Given the description of an element on the screen output the (x, y) to click on. 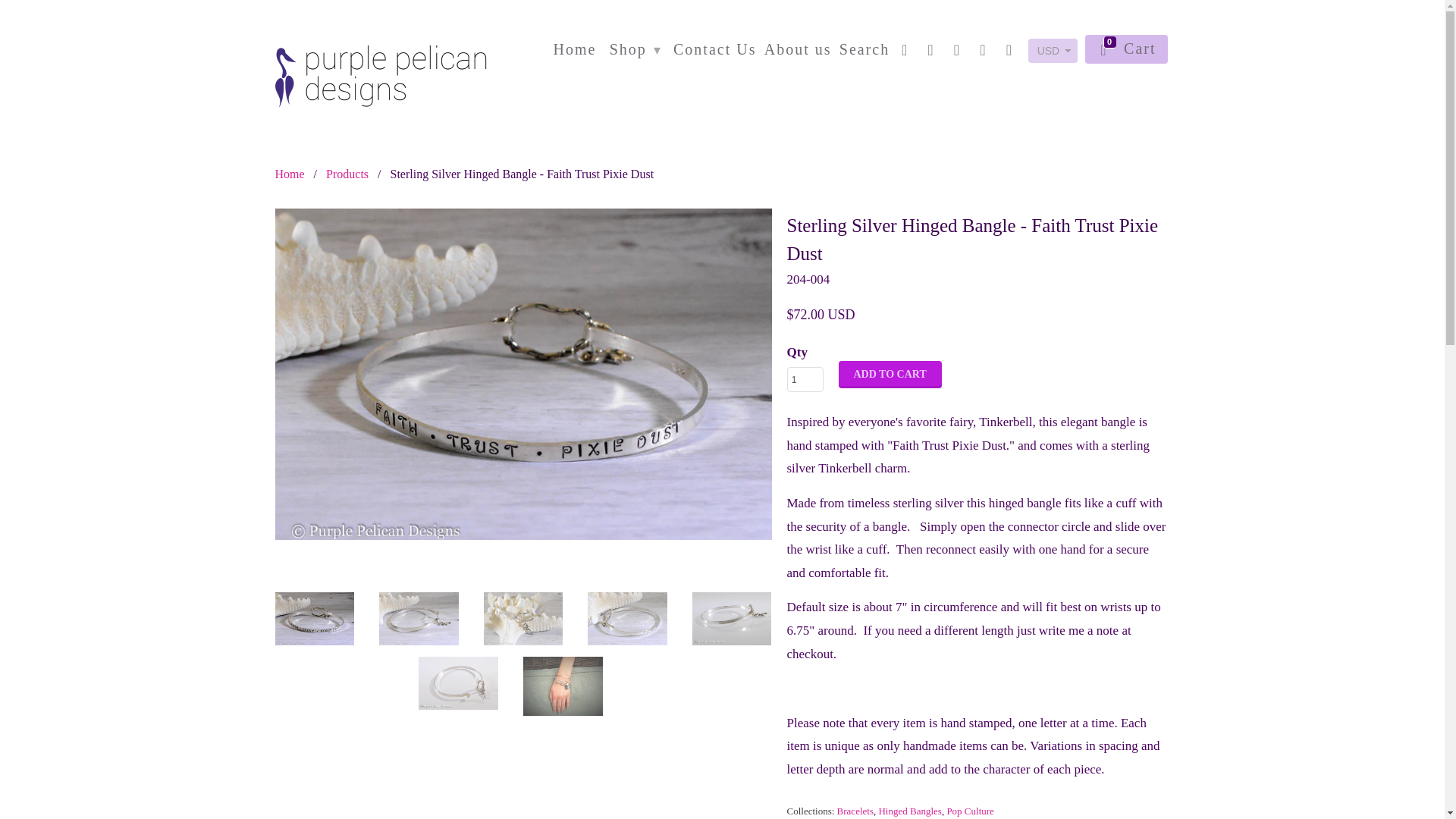
1 (805, 379)
Purple Pelican Designs (380, 62)
Purple Pelican Designs (289, 173)
Products (347, 173)
